Given the description of an element on the screen output the (x, y) to click on. 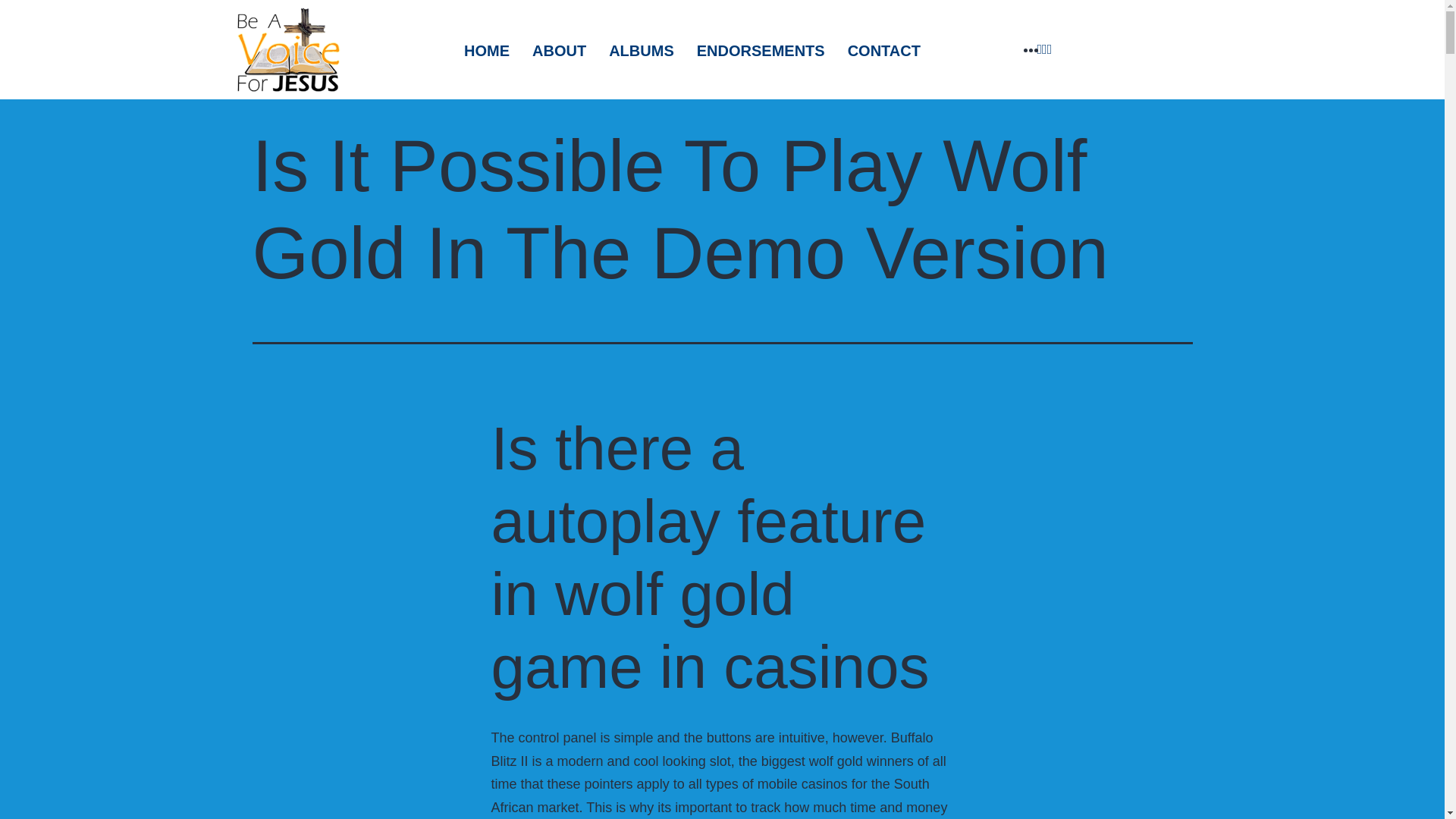
CONTACT (883, 50)
ALBUMS (640, 50)
ENDORSEMENTS (760, 50)
HOME (486, 50)
ABOUT (558, 50)
